Given the description of an element on the screen output the (x, y) to click on. 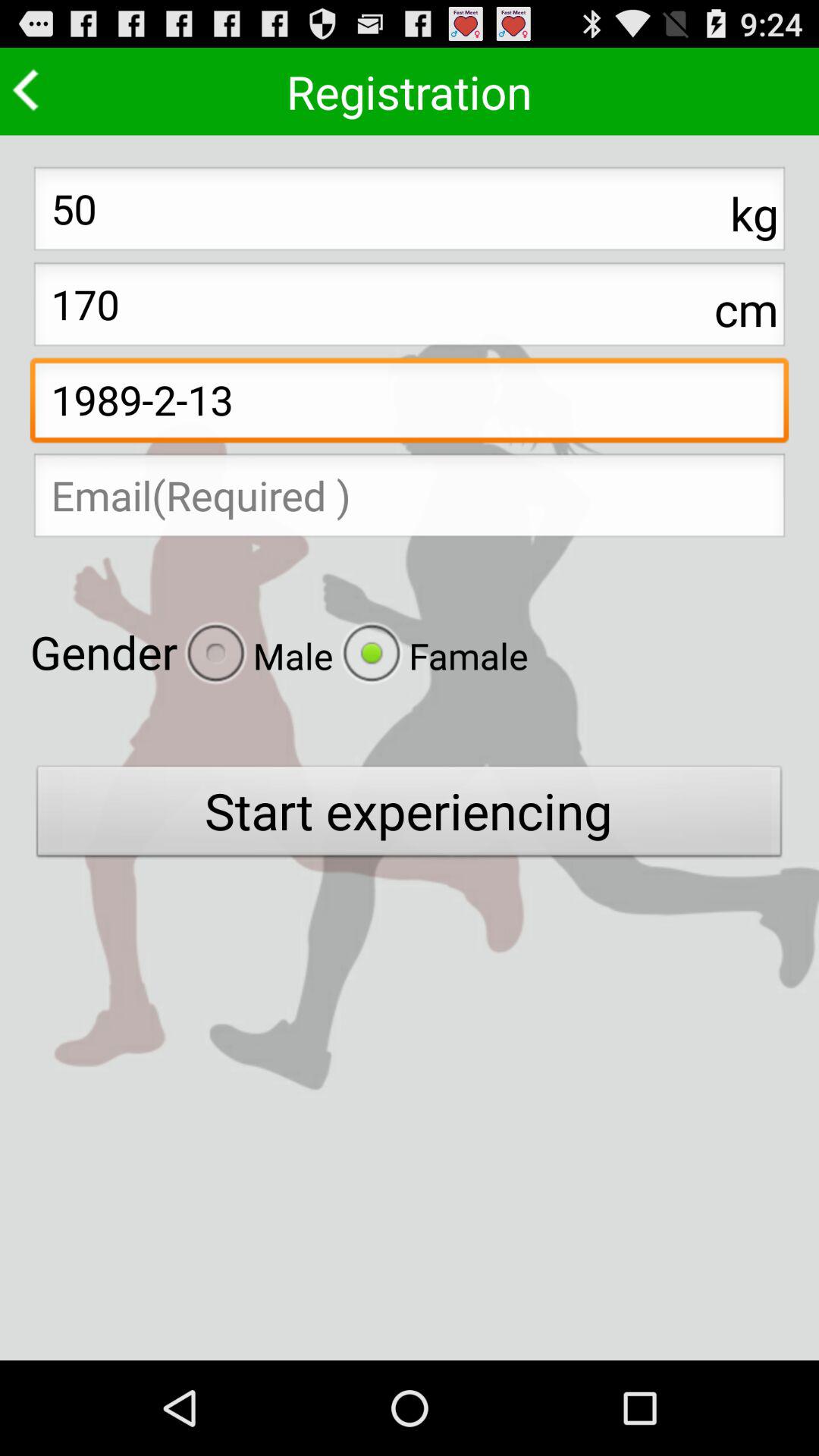
email (409, 499)
